Given the description of an element on the screen output the (x, y) to click on. 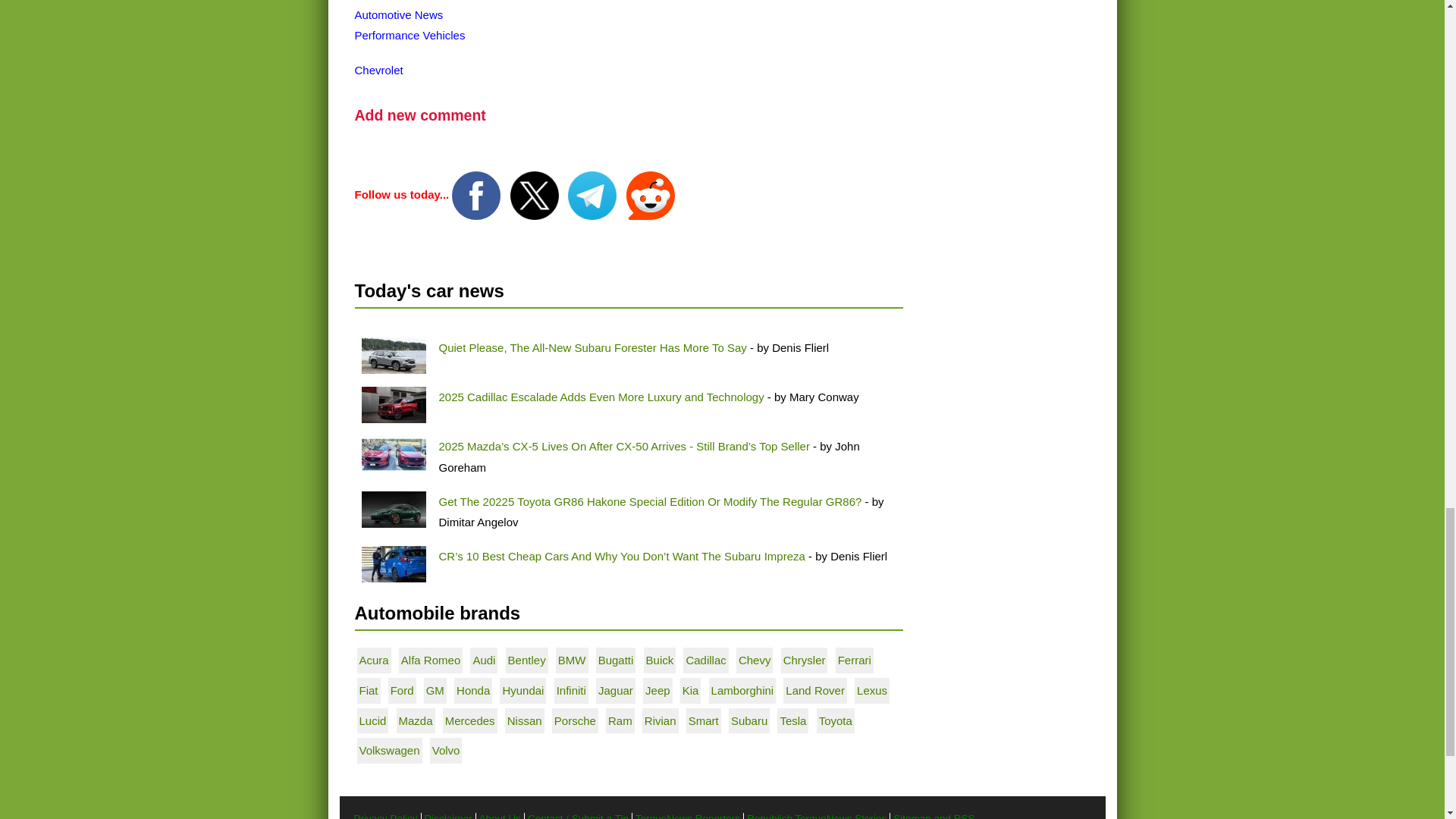
Add new comment (420, 115)
Audi (483, 659)
Share your thoughts and opinions. (420, 115)
Alfa Romeo (430, 659)
2024 Subaru Impreza in dealership's bay (393, 564)
Performance Vehicles (410, 34)
Chevrolet (379, 69)
Join us on Reddit! (650, 194)
Acura (373, 659)
Automotive News (399, 14)
2025 Toyota GR86 Hakone Special Edition (393, 509)
2025 Cadillac Escalade Adds Even More Luxury and Technology (600, 396)
Quiet Please, The All-New Subaru Forester Has More To Say (591, 347)
Join us on Telegram! (593, 194)
